Given the description of an element on the screen output the (x, y) to click on. 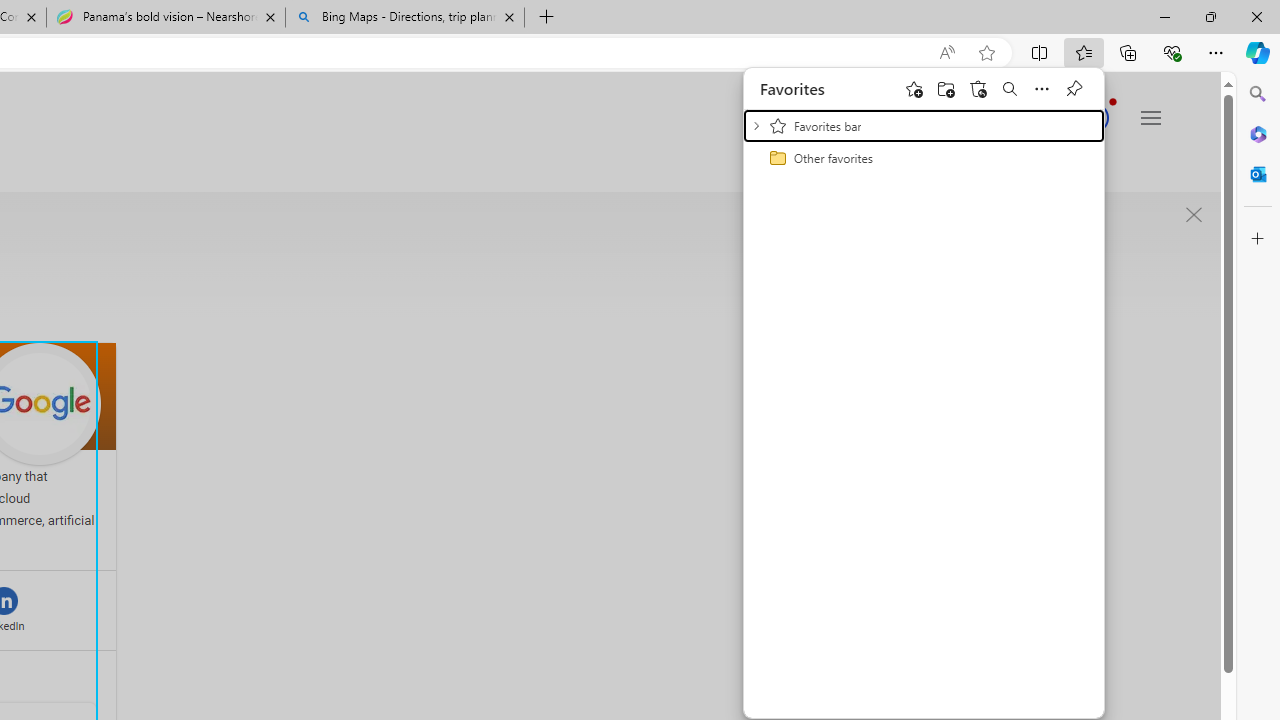
Add folder (945, 88)
Pin favorites (1073, 88)
Restore deleted favorites (977, 88)
Add this page to favorites (913, 88)
Search favorites (1009, 88)
